Given the description of an element on the screen output the (x, y) to click on. 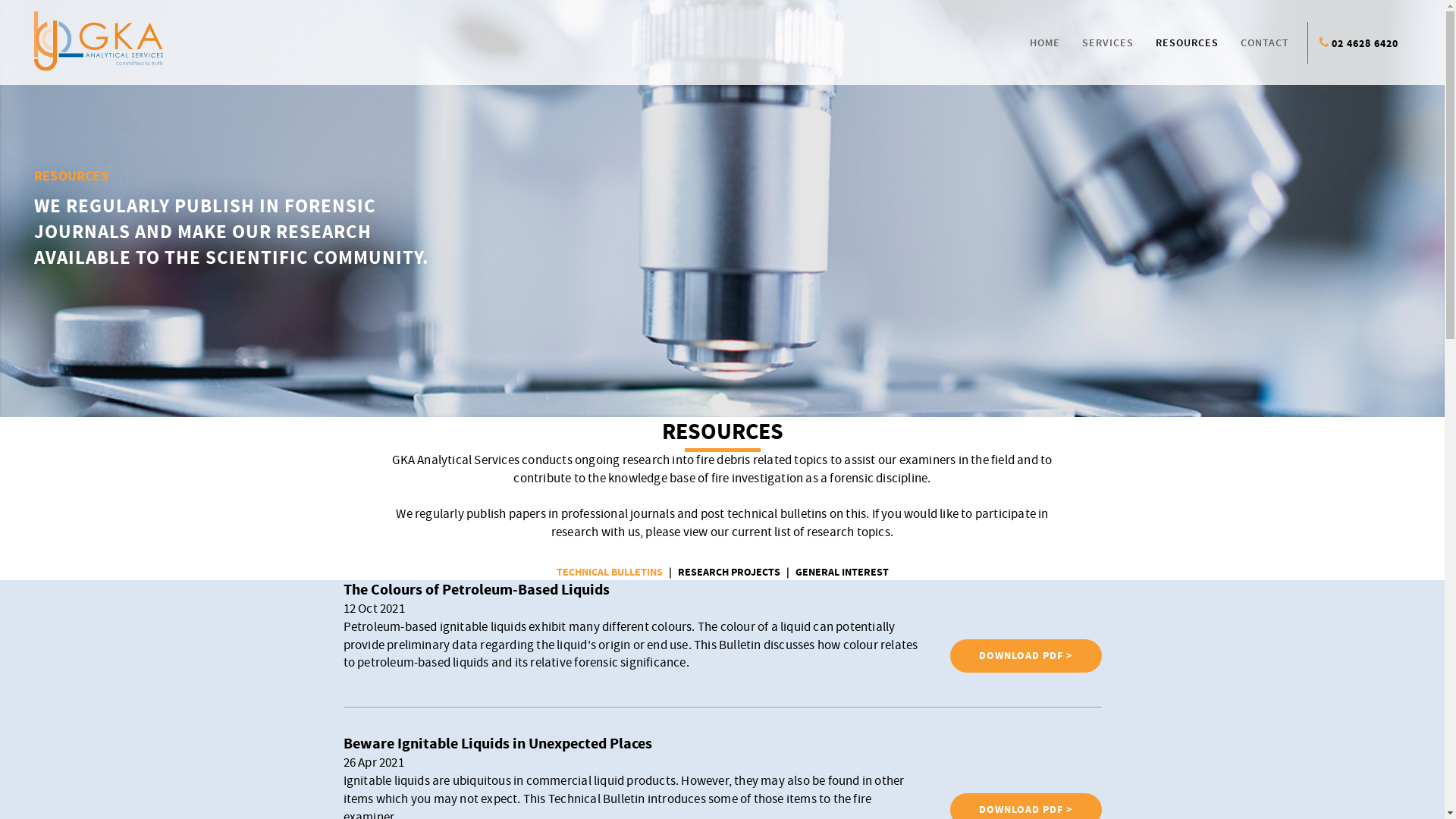
CONTACT Element type: text (1264, 43)
DOWNLOAD PDF > Element type: text (1025, 655)
RESOURCES Element type: text (1186, 43)
GENERAL INTEREST Element type: text (841, 572)
HOME Element type: text (1044, 43)
TECHNICAL BULLETINS Element type: text (608, 572)
SERVICES Element type: text (1107, 43)
1800 43 47 37 02 4628 6420 Element type: text (1364, 43)
RESEARCH PROJECTS Element type: text (728, 572)
